Given the description of an element on the screen output the (x, y) to click on. 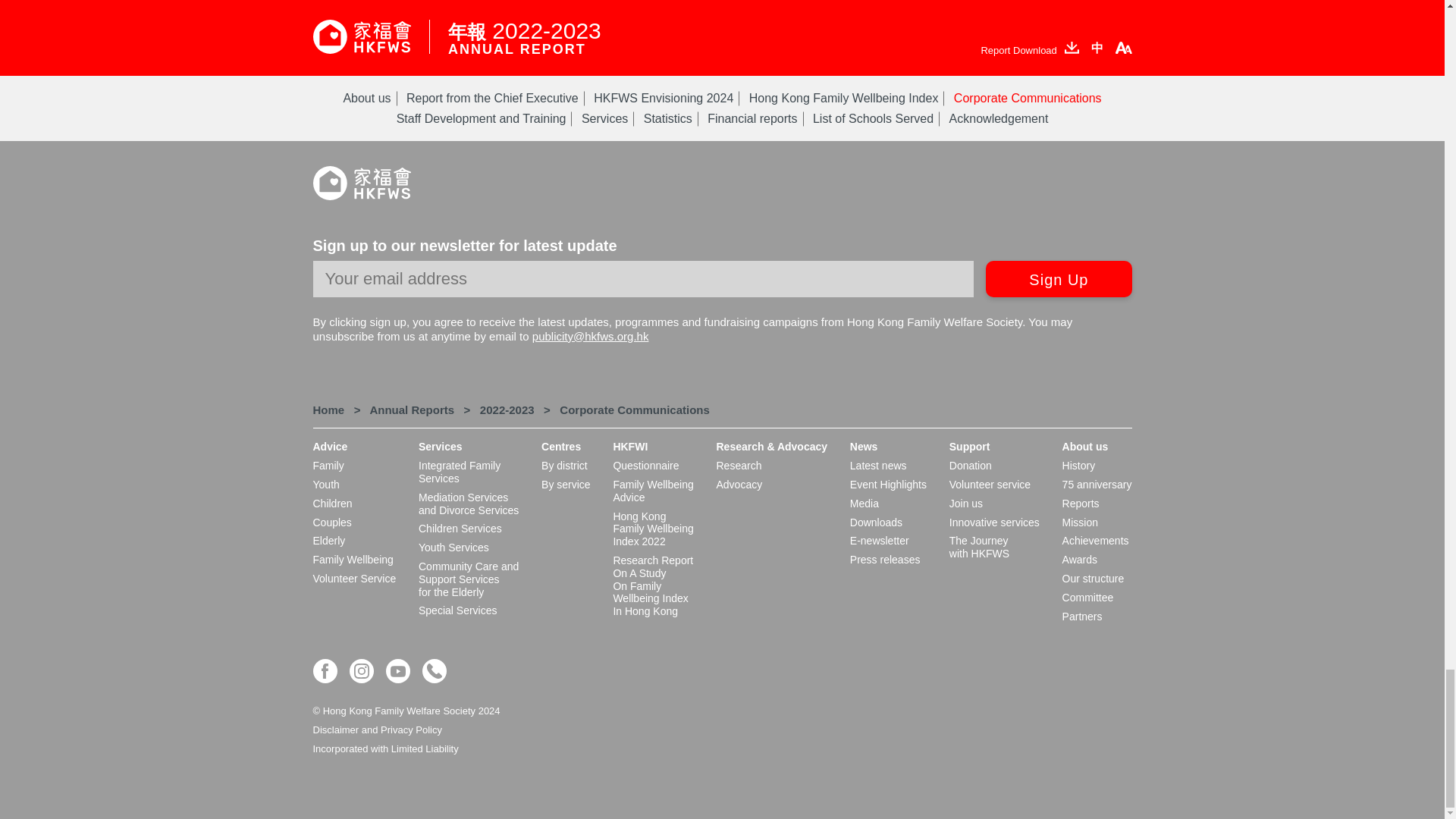
Sign Up (1058, 279)
EN (328, 409)
Annual Reports (411, 409)
2022-2023 (507, 409)
